Given the description of an element on the screen output the (x, y) to click on. 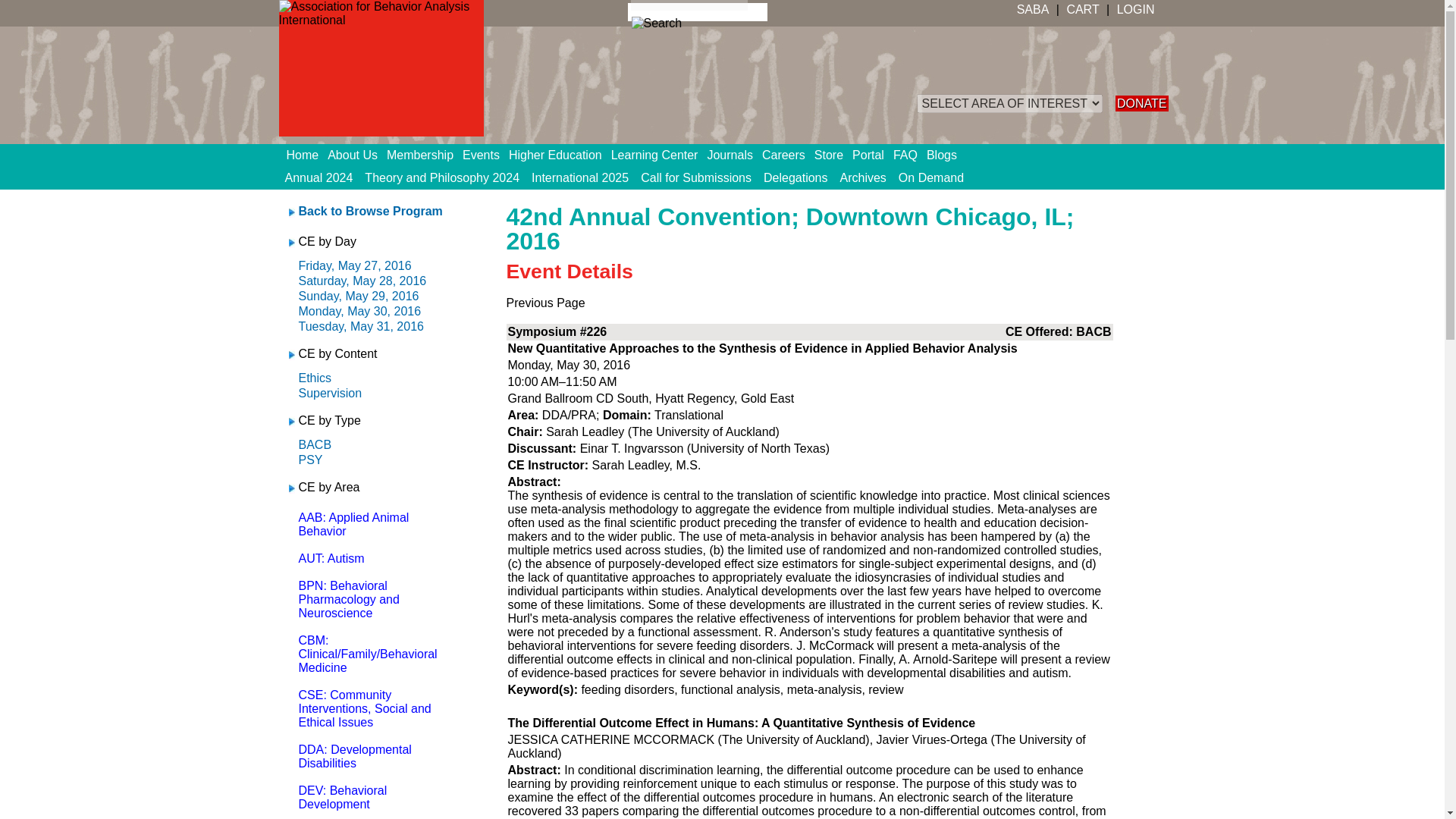
Store (832, 155)
Saturday, May 28, 2016 (362, 280)
About Us (357, 155)
Higher Education (559, 155)
Back to search (370, 210)
International 2025 (579, 178)
Call for Submissions (695, 178)
Archives (863, 178)
FAQ (909, 155)
Journals (733, 155)
Membership (425, 155)
PSY (310, 459)
Ethics (314, 377)
Delegations (795, 178)
Portal (872, 155)
